Given the description of an element on the screen output the (x, y) to click on. 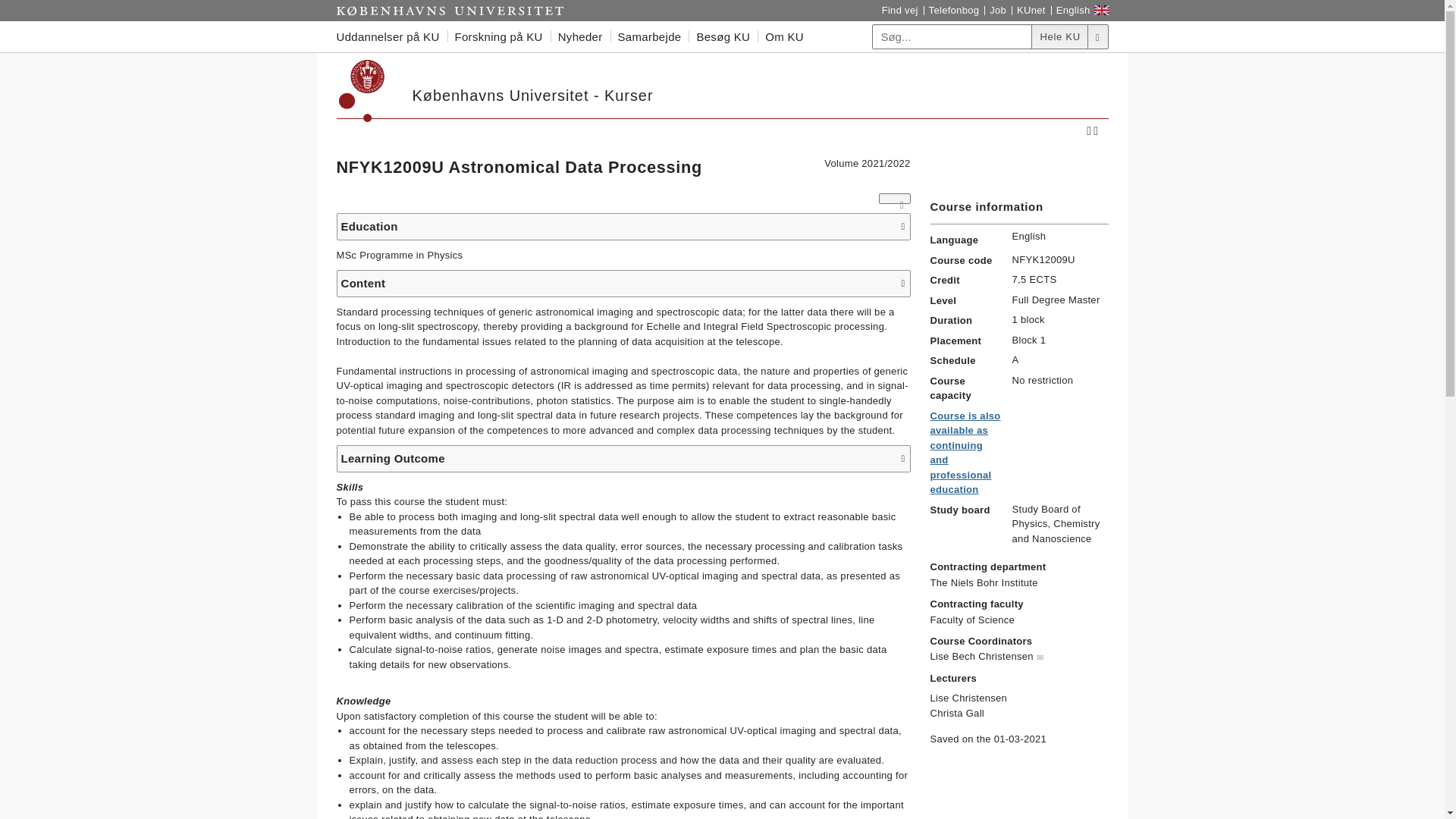
Samarbejde (649, 36)
KUnet (1031, 10)
Job (997, 10)
English (1073, 10)
Om KU (783, 36)
Telefonbog (954, 10)
Find vej (899, 10)
Nyheder (580, 36)
